Given the description of an element on the screen output the (x, y) to click on. 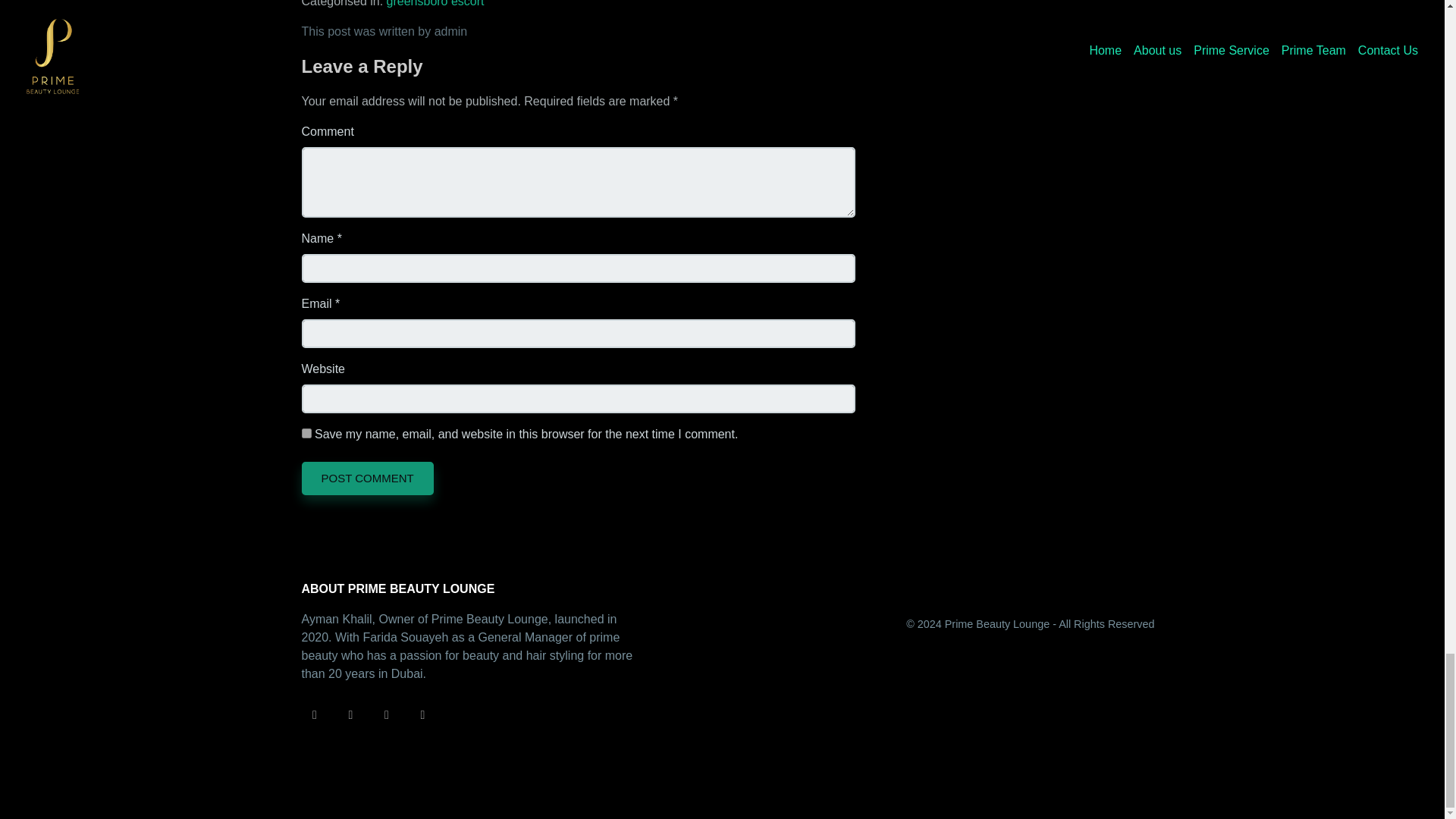
greensboro escort (435, 3)
yes (306, 433)
Post Comment (367, 478)
Post Comment (367, 478)
